Given the description of an element on the screen output the (x, y) to click on. 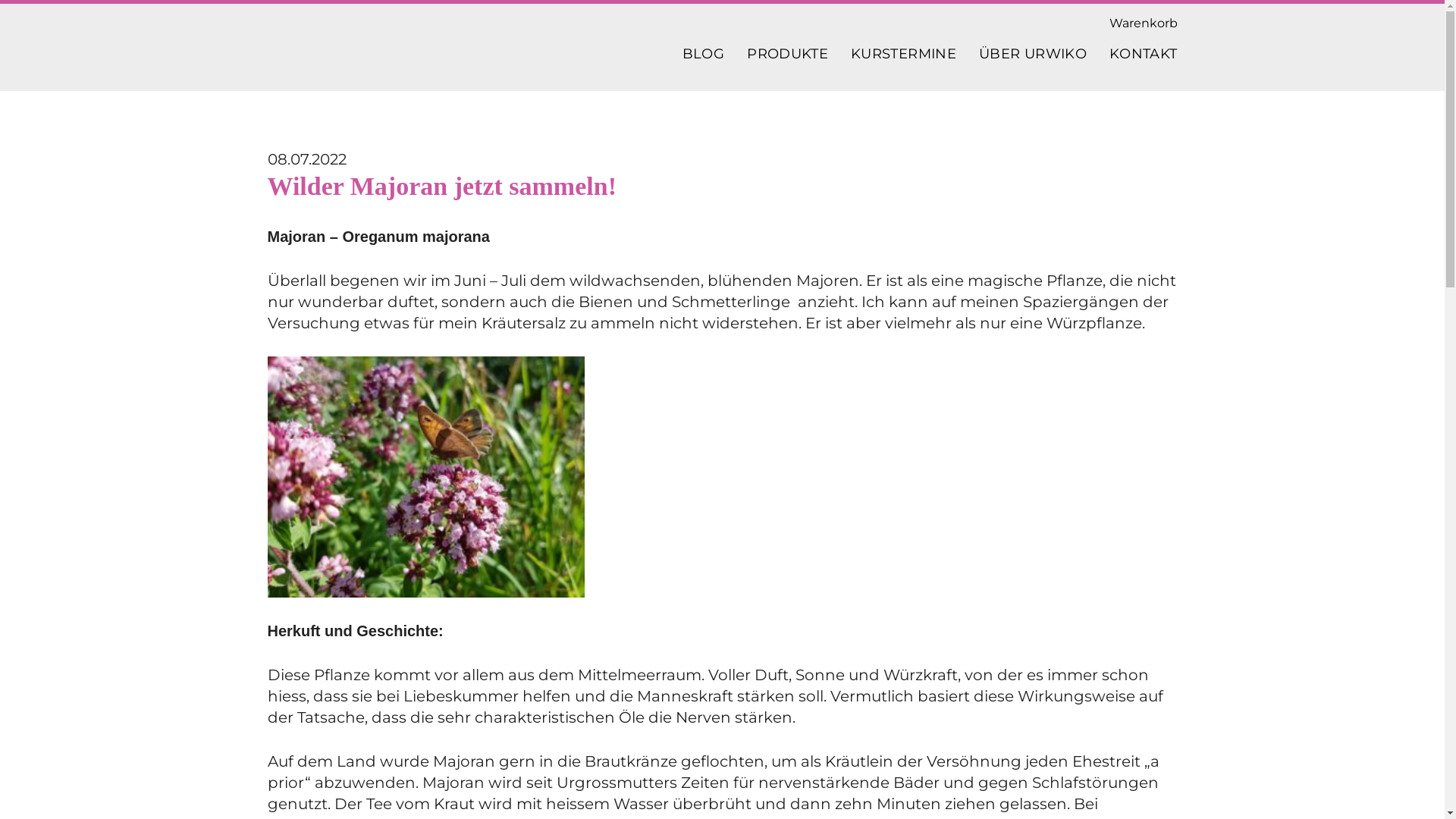
Warenkorb Element type: text (1142, 22)
KONTAKT Element type: text (1143, 58)
KURSTERMINE Element type: text (903, 58)
PRODUKTE Element type: text (787, 58)
BLOG Element type: text (703, 58)
Urwiko Element type: text (372, 48)
